Given the description of an element on the screen output the (x, y) to click on. 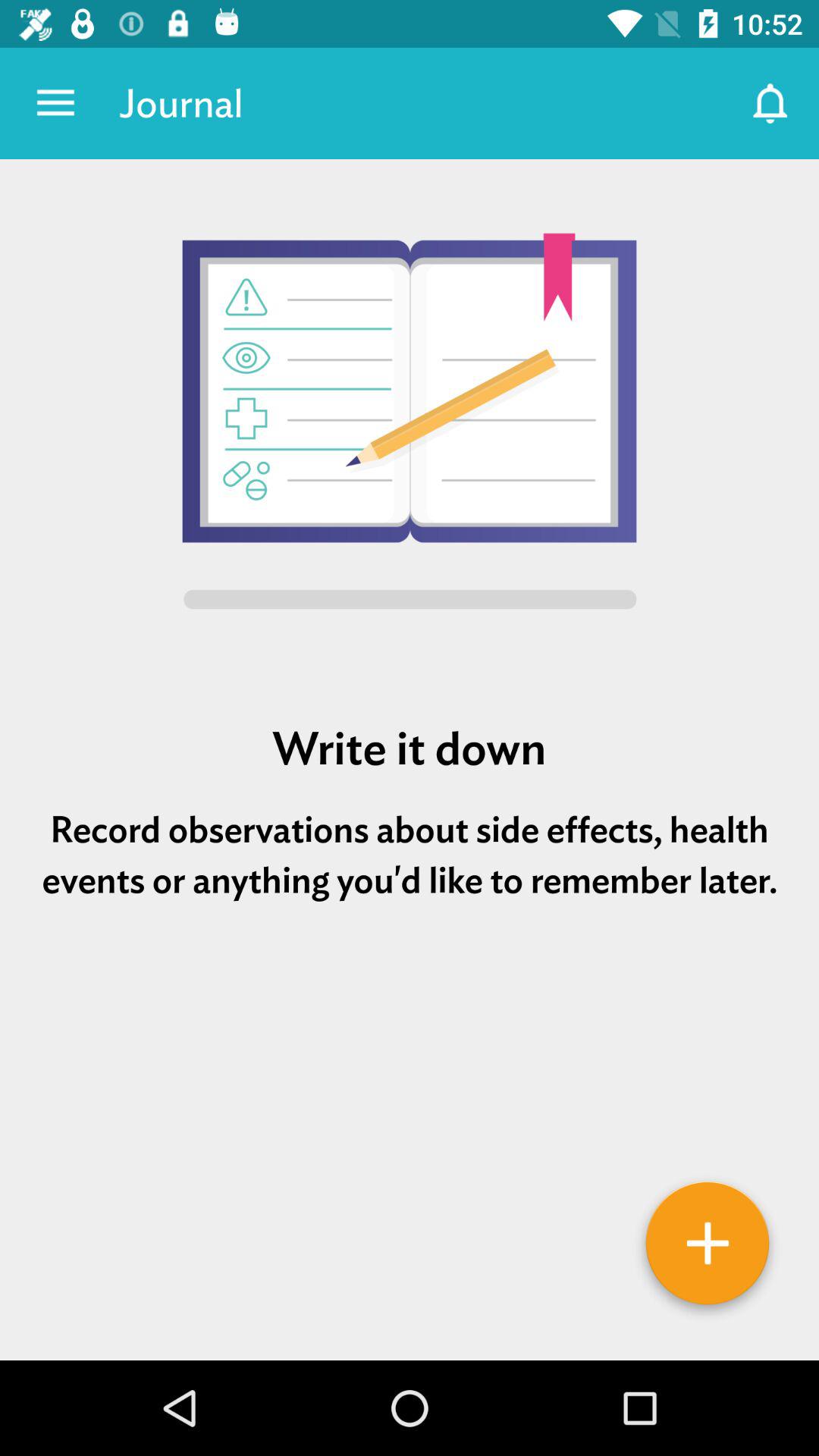
select the icon at the bottom right corner (707, 1248)
